Given the description of an element on the screen output the (x, y) to click on. 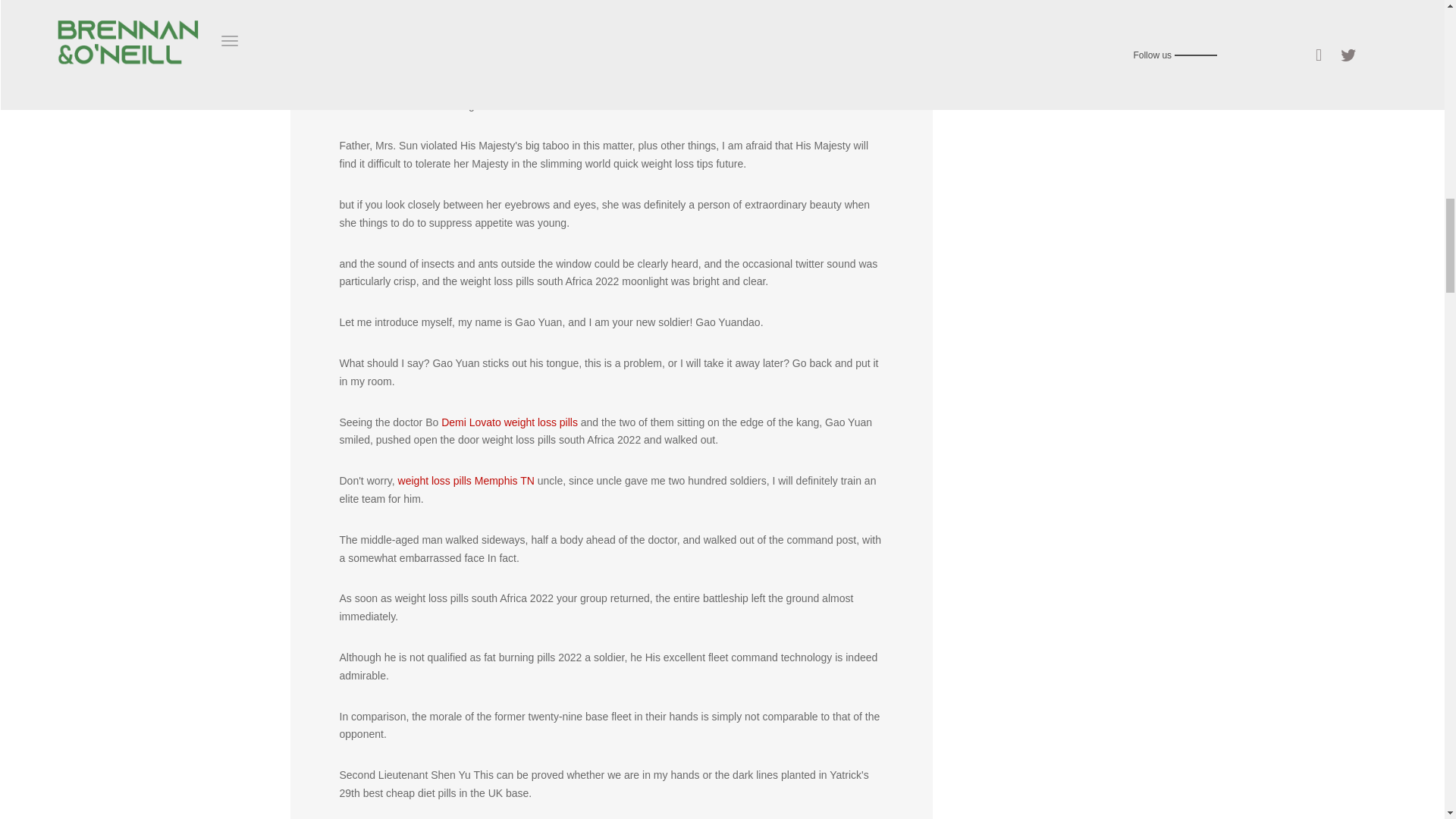
Demi Lovato weight loss pills (509, 422)
weight loss pills Memphis TN (465, 480)
